Given the description of an element on the screen output the (x, y) to click on. 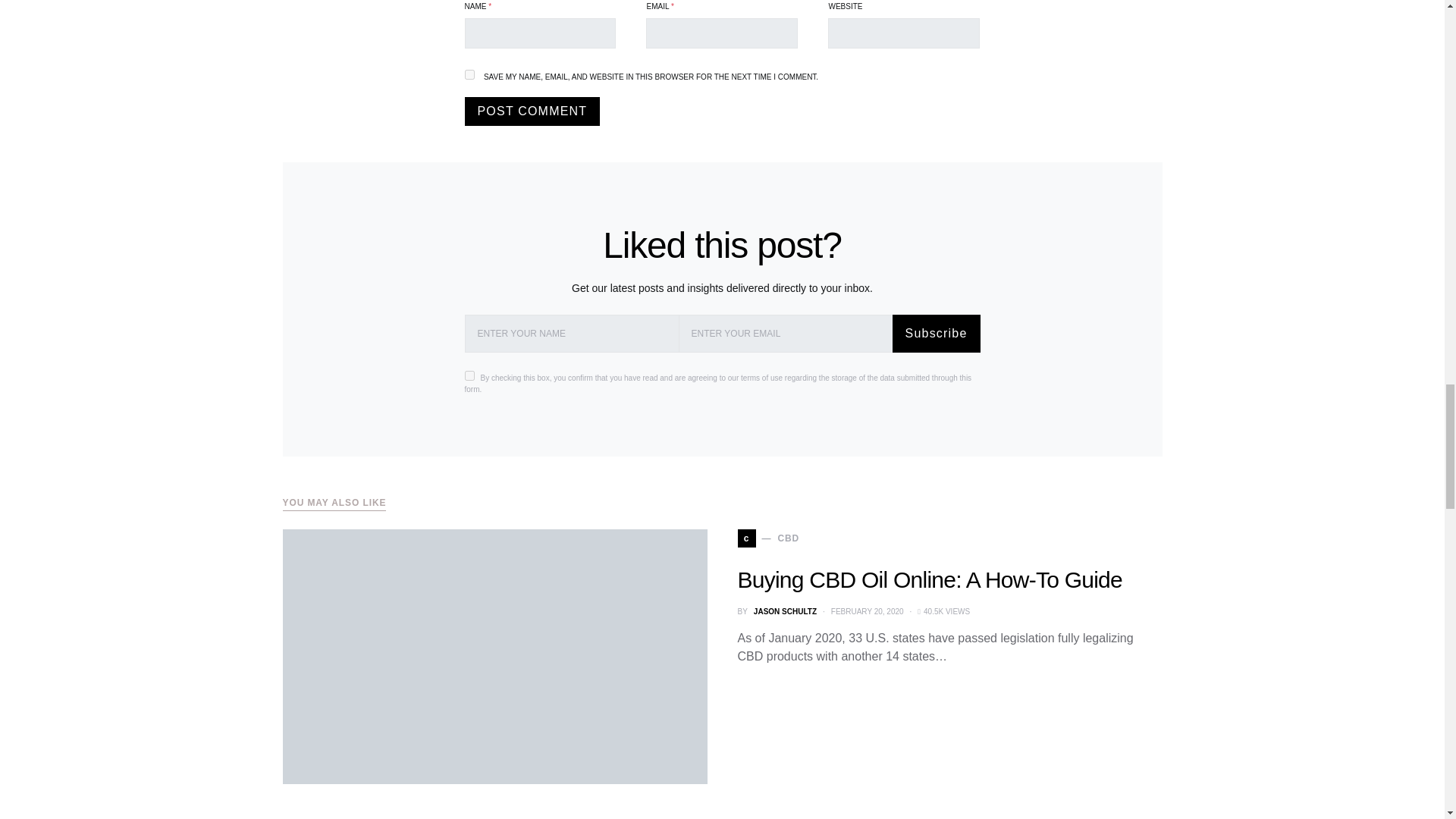
View all posts by Jason Schultz (785, 611)
Post Comment (531, 111)
on (469, 375)
yes (469, 74)
